Given the description of an element on the screen output the (x, y) to click on. 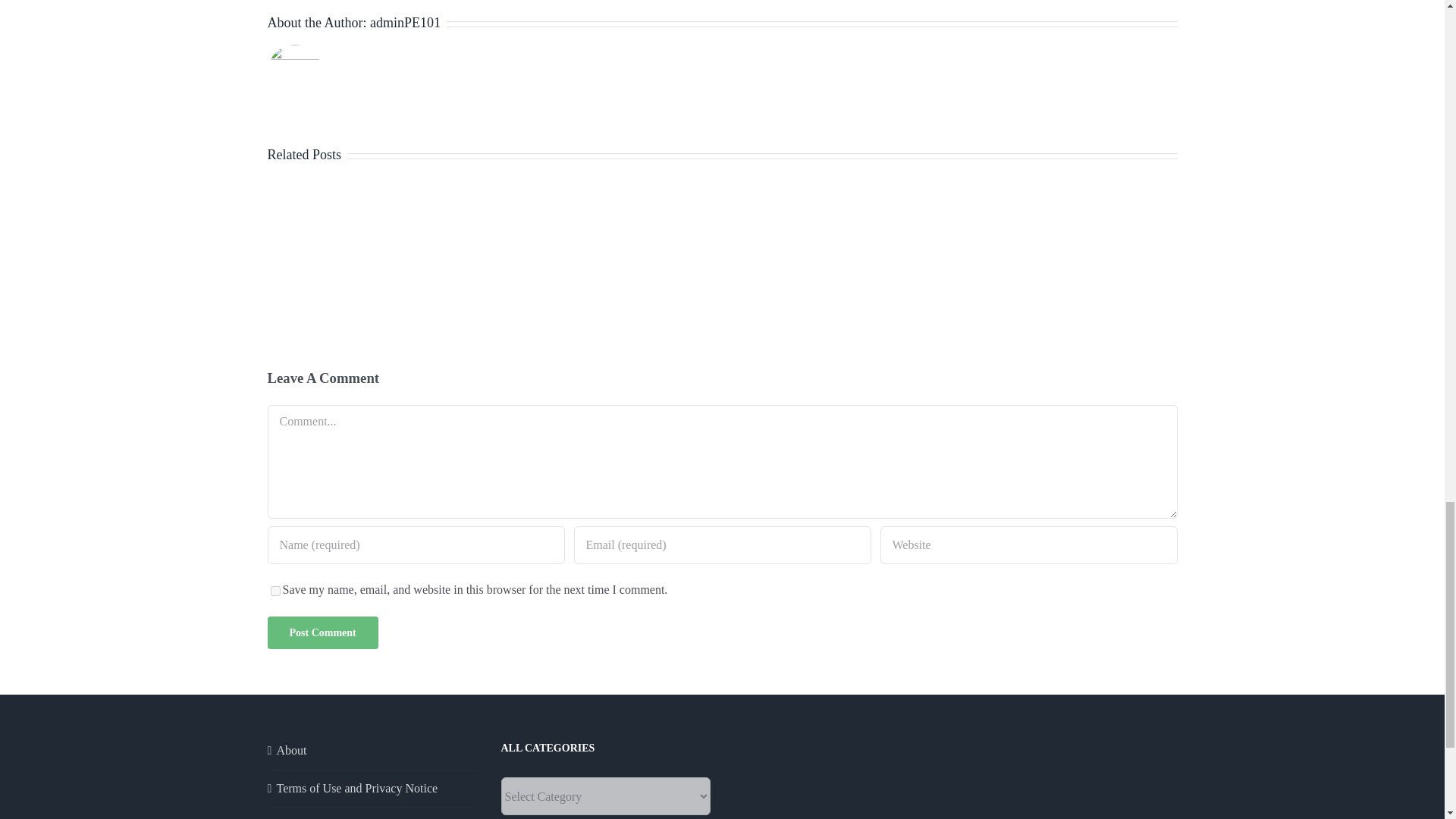
Post Comment (321, 632)
yes (274, 591)
Posts by adminPE101 (405, 22)
adminPE101 (405, 22)
